Given the description of an element on the screen output the (x, y) to click on. 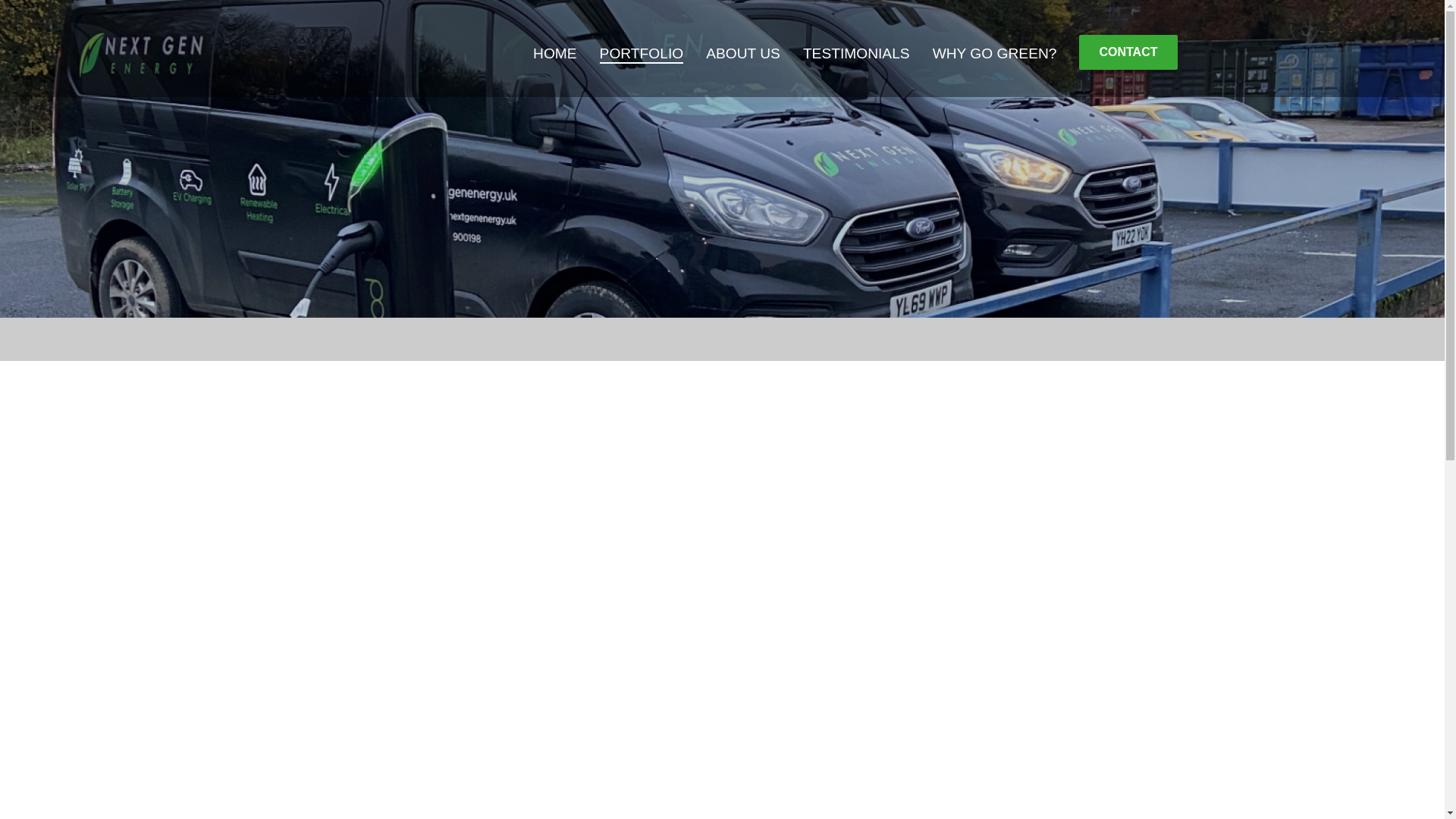
HOME (554, 53)
ABOUT US (743, 53)
WHY GO GREEN? (995, 53)
CONTACT (1127, 51)
TESTIMONIALS (856, 53)
PORTFOLIO (641, 53)
